Given the description of an element on the screen output the (x, y) to click on. 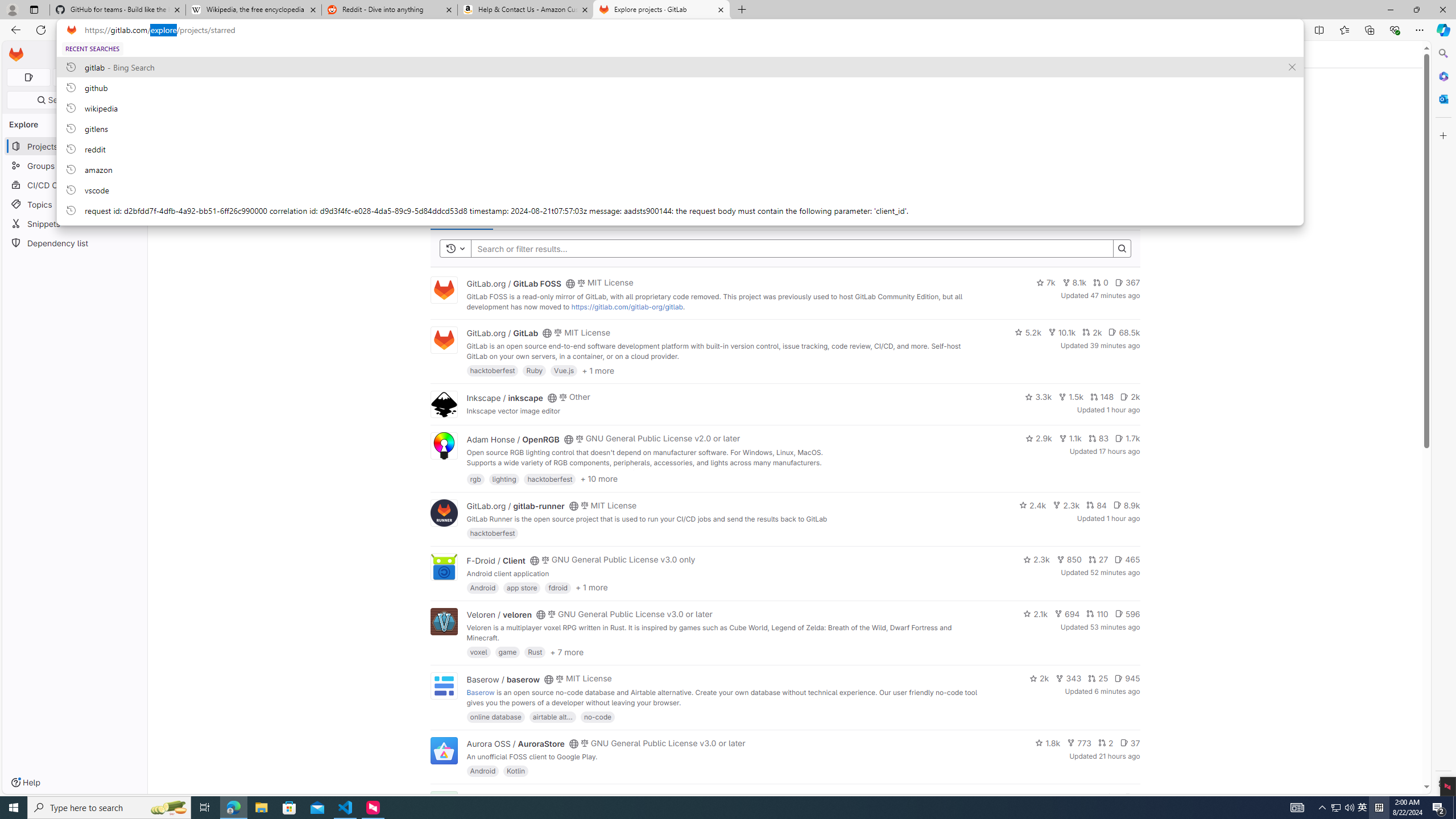
Merge requests 0 (74, 76)
Dependency list (74, 242)
Snippets (74, 223)
F (443, 805)
Create new... (113, 54)
All (632, 216)
Class: s16 (568, 798)
Wikipedia, the free encyclopedia (253, 9)
Groups (74, 165)
1.7k (1127, 438)
gitlens, recent searches from history (679, 127)
